Given the description of an element on the screen output the (x, y) to click on. 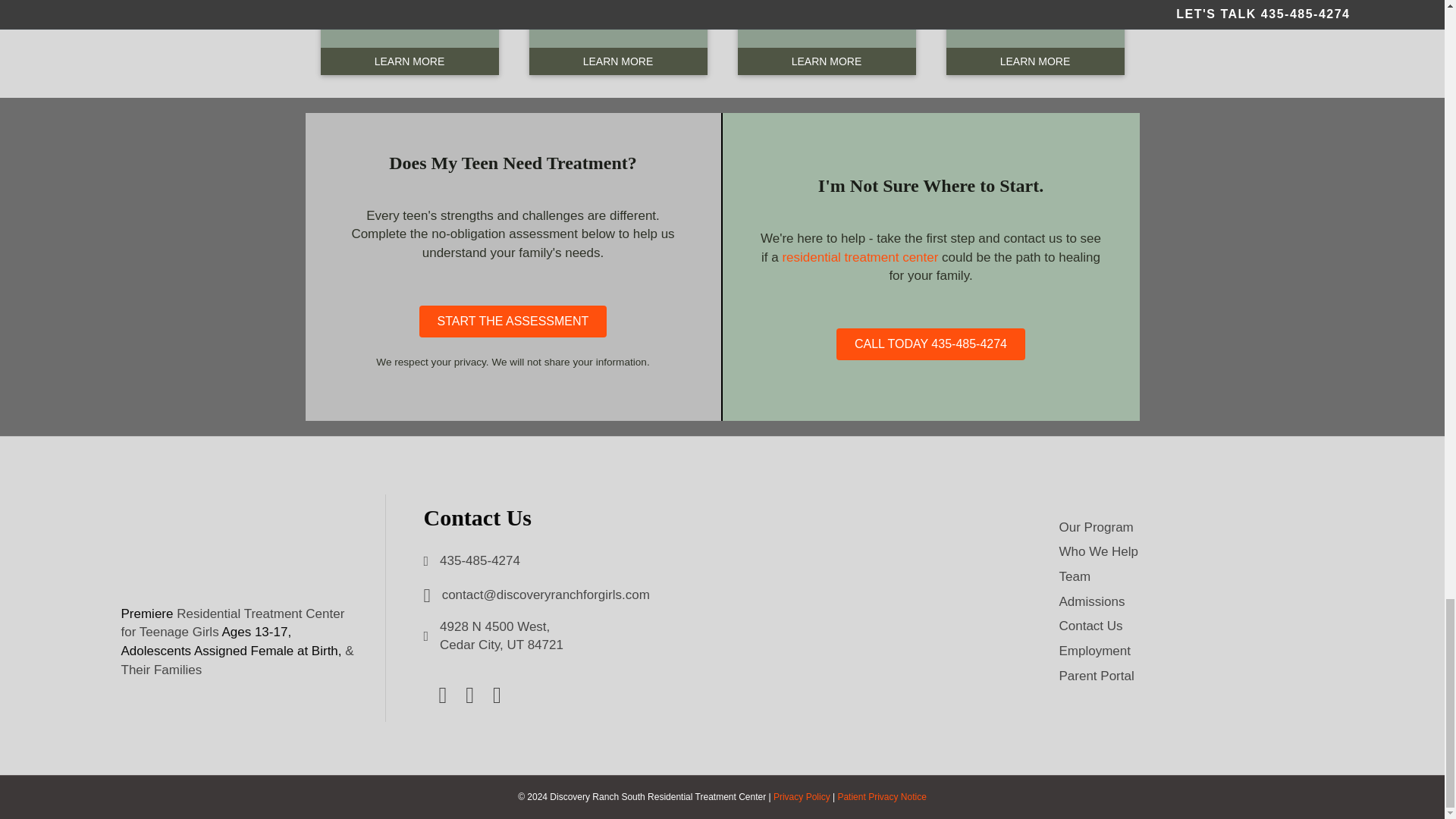
discovery-ranch-south-horizontal-logo (226, 549)
